Given the description of an element on the screen output the (x, y) to click on. 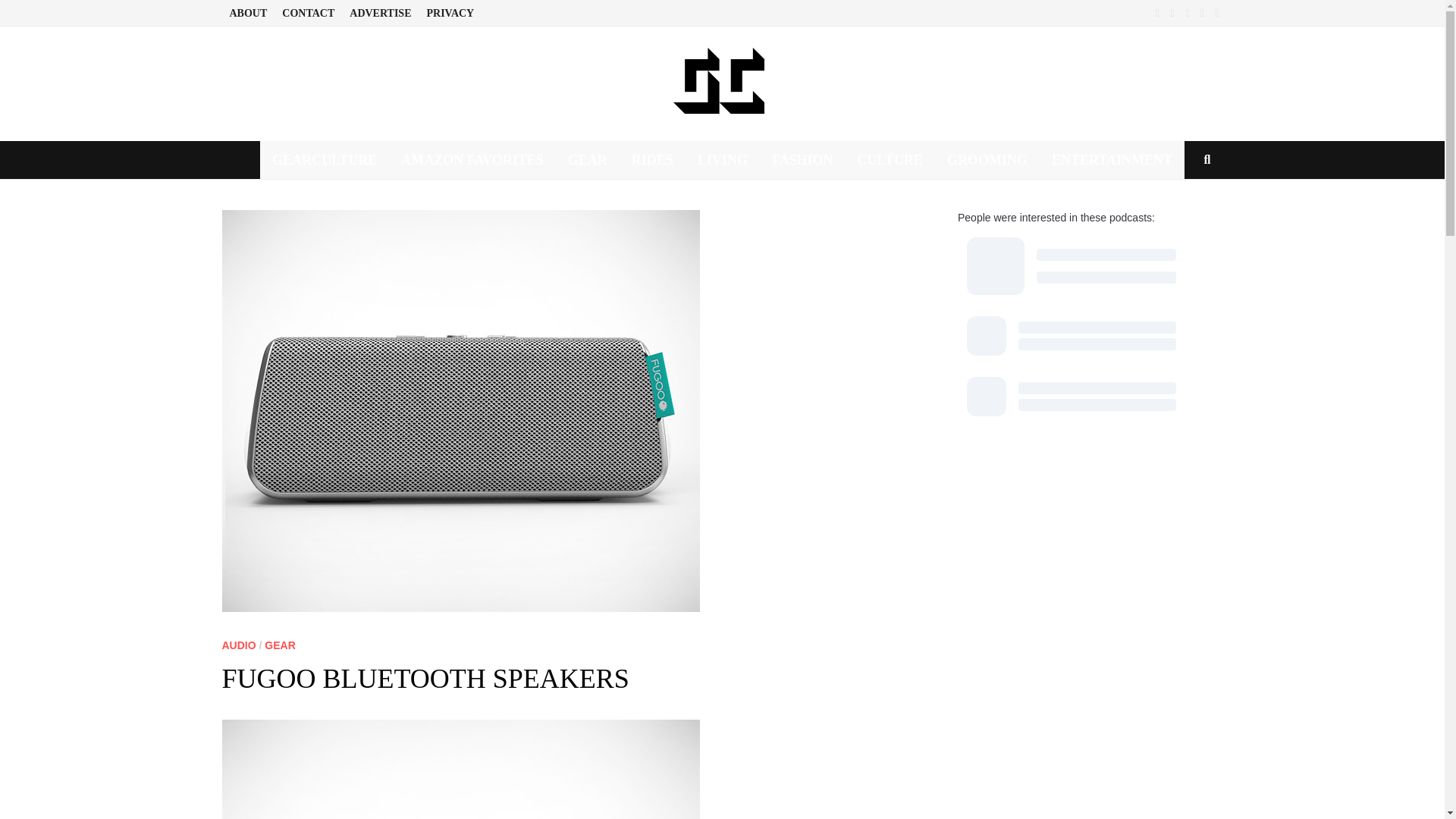
AUDIO (238, 645)
PRIVACY (450, 13)
AMAZON FAVORITES (472, 159)
Facebook (1159, 11)
LIVING (722, 159)
Youtube (1173, 11)
ENTERTAINMENT (1112, 159)
GEARCULTURE (324, 159)
ABOUT (248, 13)
GEAR (279, 645)
CONTACT (308, 13)
Instagram (1203, 11)
ADVERTISE (380, 13)
GROOMING (986, 159)
GEAR (588, 159)
